Given the description of an element on the screen output the (x, y) to click on. 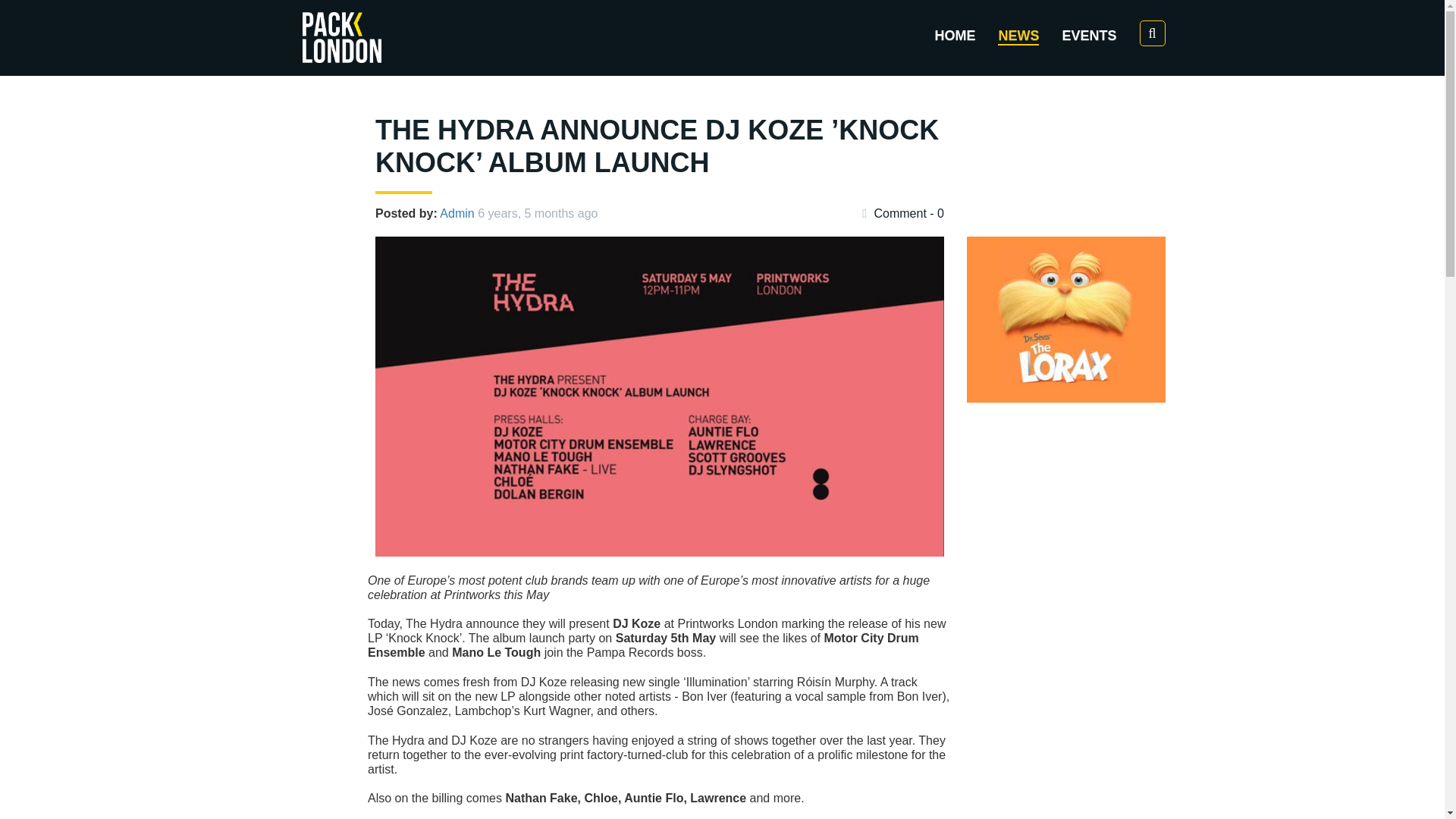
Comment - 0 (902, 213)
EVENTS (1088, 34)
HOME (954, 34)
NEWS (1018, 35)
Admin (456, 213)
